Given the description of an element on the screen output the (x, y) to click on. 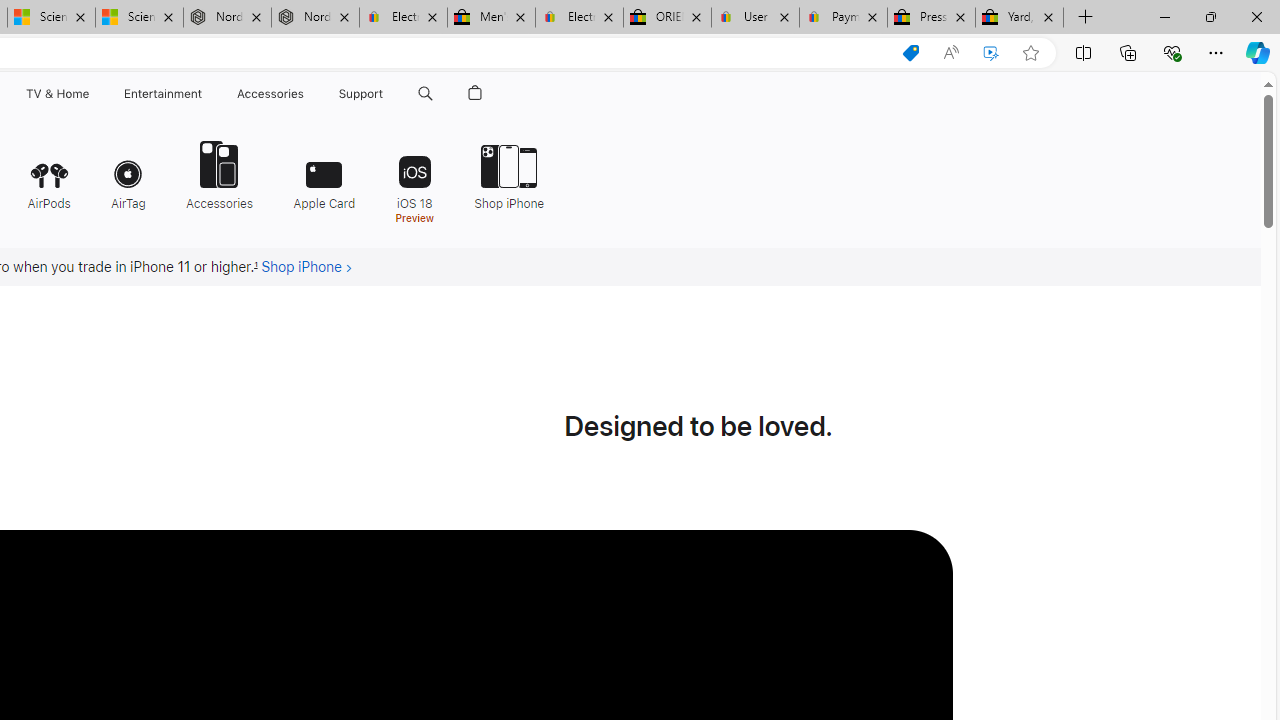
Apple Card (324, 173)
Nordace - Summer Adventures 2024 (315, 17)
Support (361, 93)
AirTag (128, 173)
Shopping Bag (475, 93)
